Given the description of an element on the screen output the (x, y) to click on. 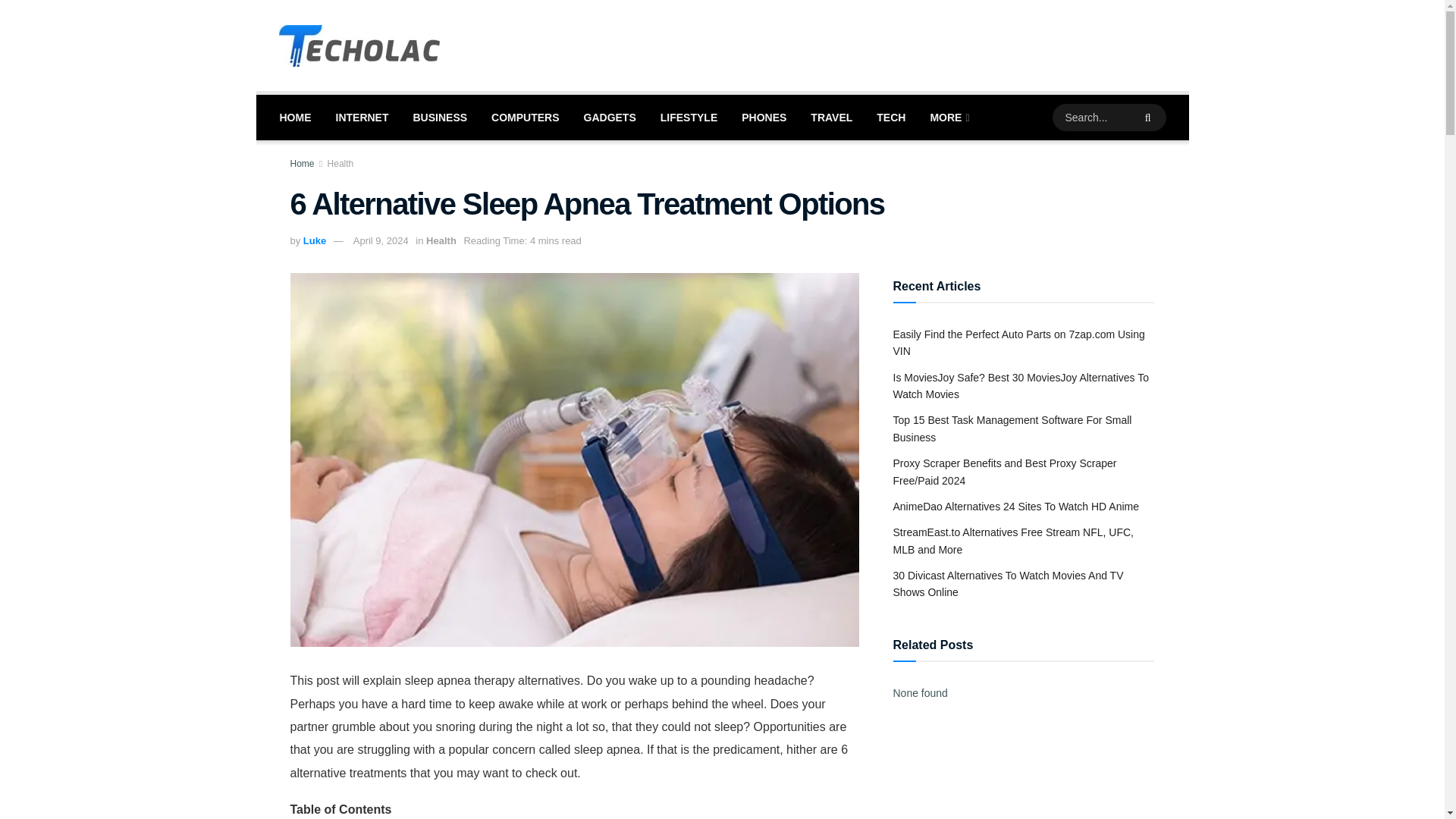
BUSINESS (439, 117)
LIFESTYLE (688, 117)
PHONES (763, 117)
INTERNET (361, 117)
TECH (890, 117)
HOME (294, 117)
GADGETS (609, 117)
MORE (947, 117)
COMPUTERS (524, 117)
TRAVEL (830, 117)
